Given the description of an element on the screen output the (x, y) to click on. 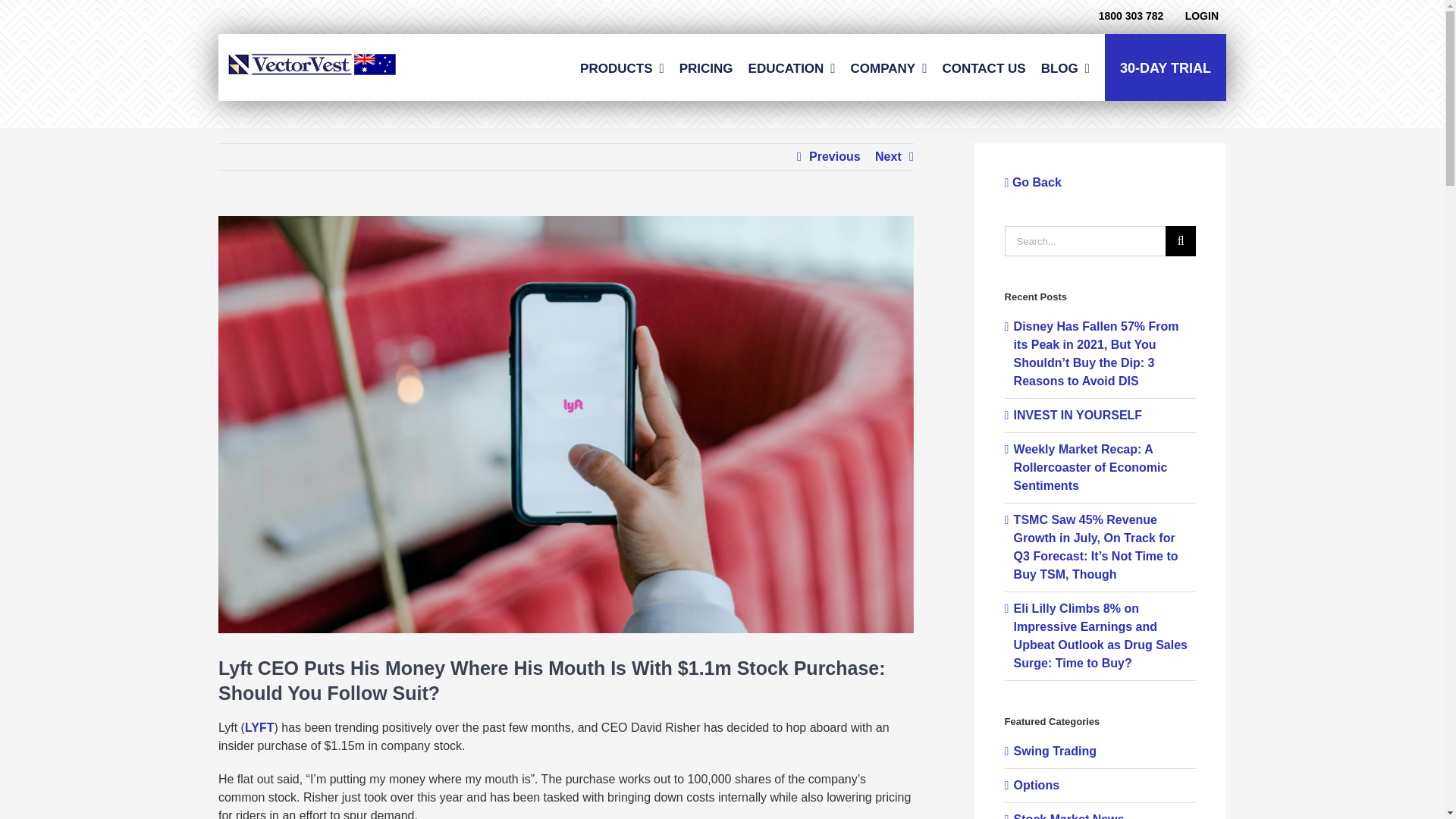
CONTACT US (983, 67)
EDUCATION (791, 67)
1800 303 782 (1131, 15)
30-DAY TRIAL (1165, 67)
PRODUCTS (621, 67)
COMPANY (888, 67)
LOGIN (1205, 15)
